Given the description of an element on the screen output the (x, y) to click on. 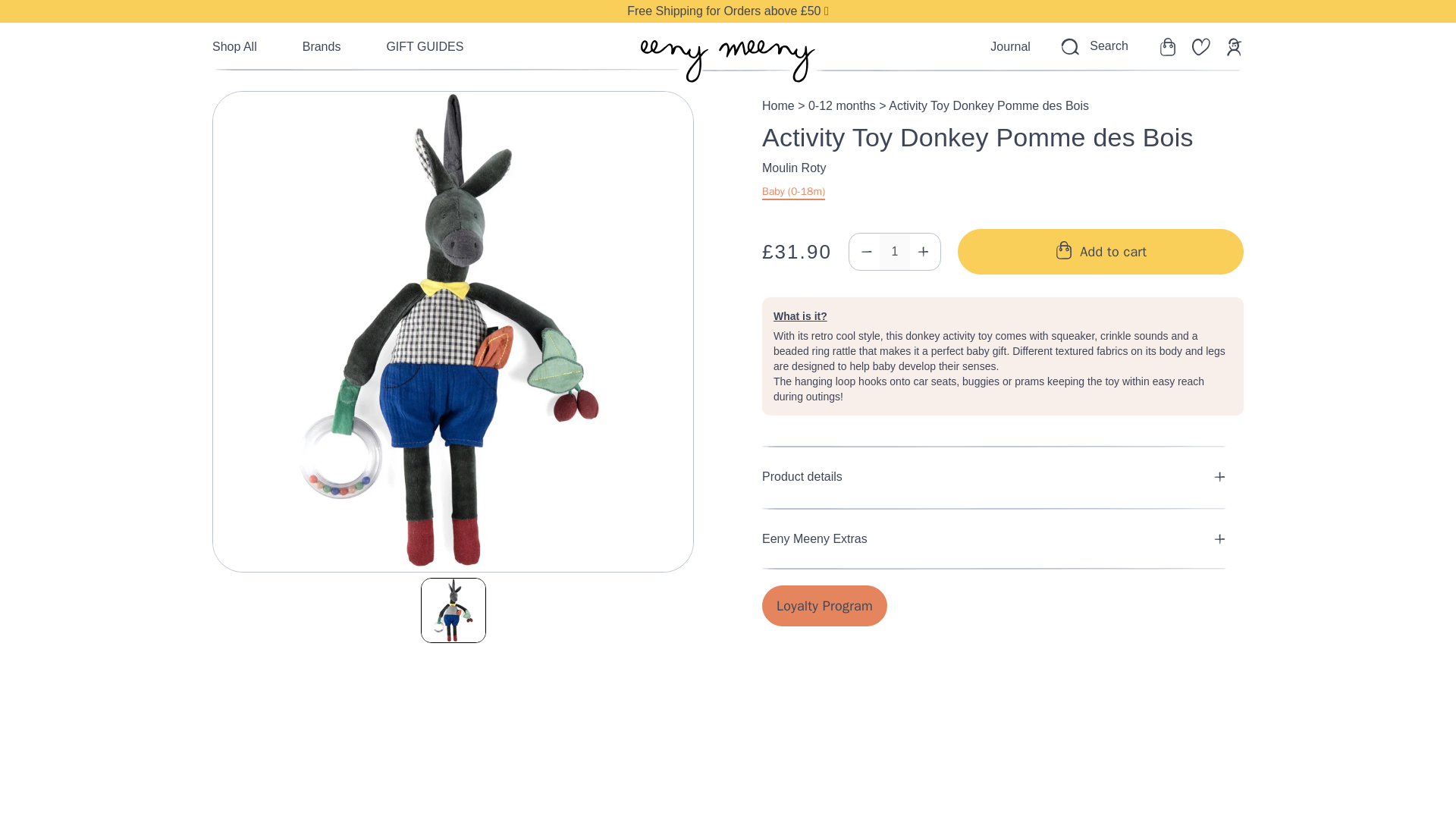
Skip to content (14, 12)
